Given the description of an element on the screen output the (x, y) to click on. 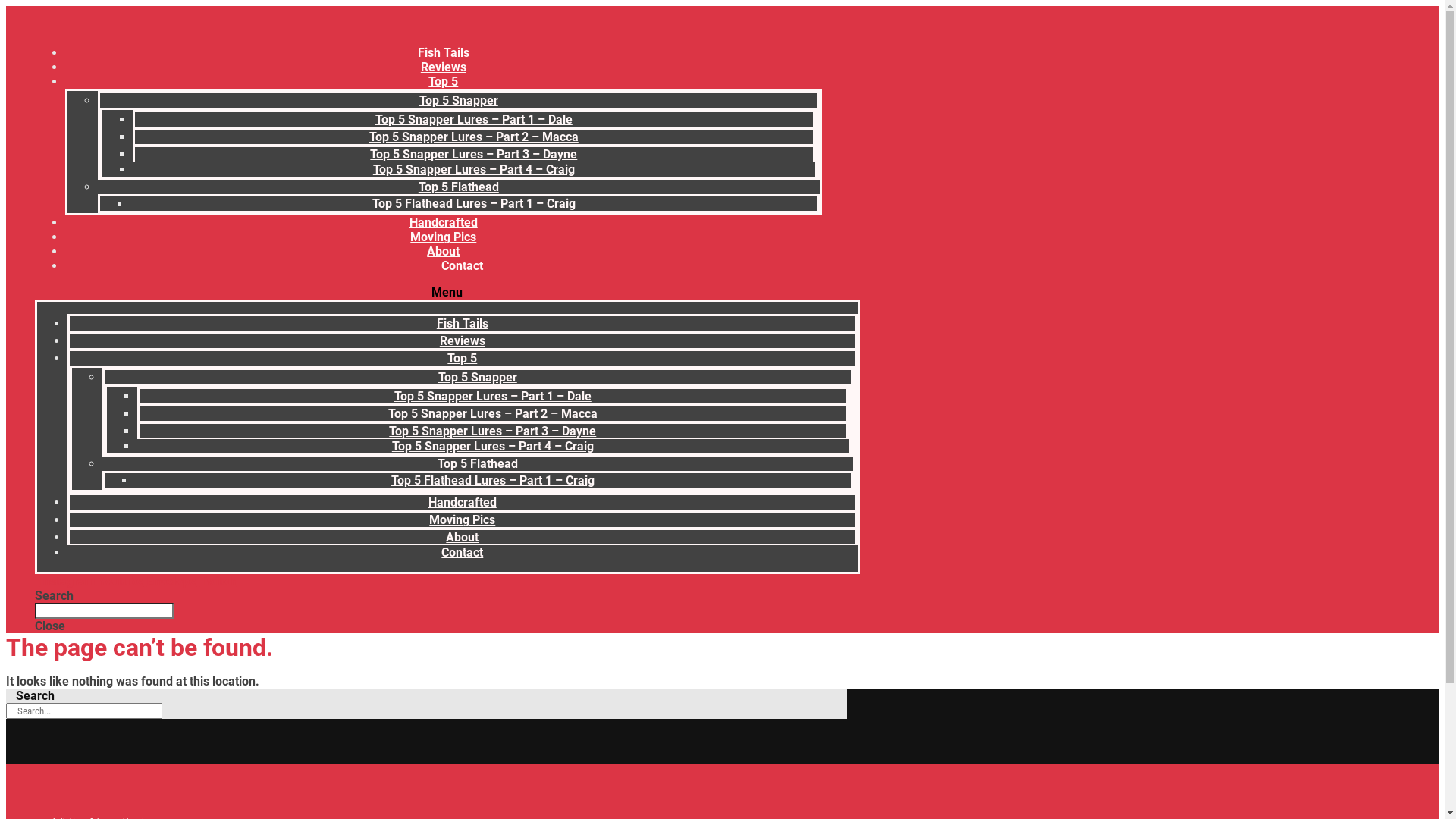
Moving Pics Element type: text (462, 519)
Moving Pics Element type: text (443, 236)
Youtube Element type: text (122, 581)
Reviews Element type: text (443, 66)
Reviews Element type: text (462, 340)
Envelope Element type: text (172, 581)
Top 5 Element type: text (443, 81)
About Element type: text (461, 537)
Instagram Element type: text (68, 581)
About Element type: text (442, 251)
Top 5 Snapper Element type: text (477, 377)
Search Element type: hover (103, 610)
Handcrafted Element type: text (443, 222)
Top 5 Element type: text (461, 358)
Top 5 Snapper Element type: text (458, 100)
Twitch Element type: text (217, 581)
Contact Element type: text (462, 552)
Fish Tails Element type: text (443, 52)
Handcrafted Element type: text (462, 502)
Fish Tails Element type: text (462, 323)
Top 5 Flathead Element type: text (458, 186)
Top 5 Flathead Element type: text (477, 463)
Contact Element type: text (462, 265)
Search Element type: hover (84, 710)
